Given the description of an element on the screen output the (x, y) to click on. 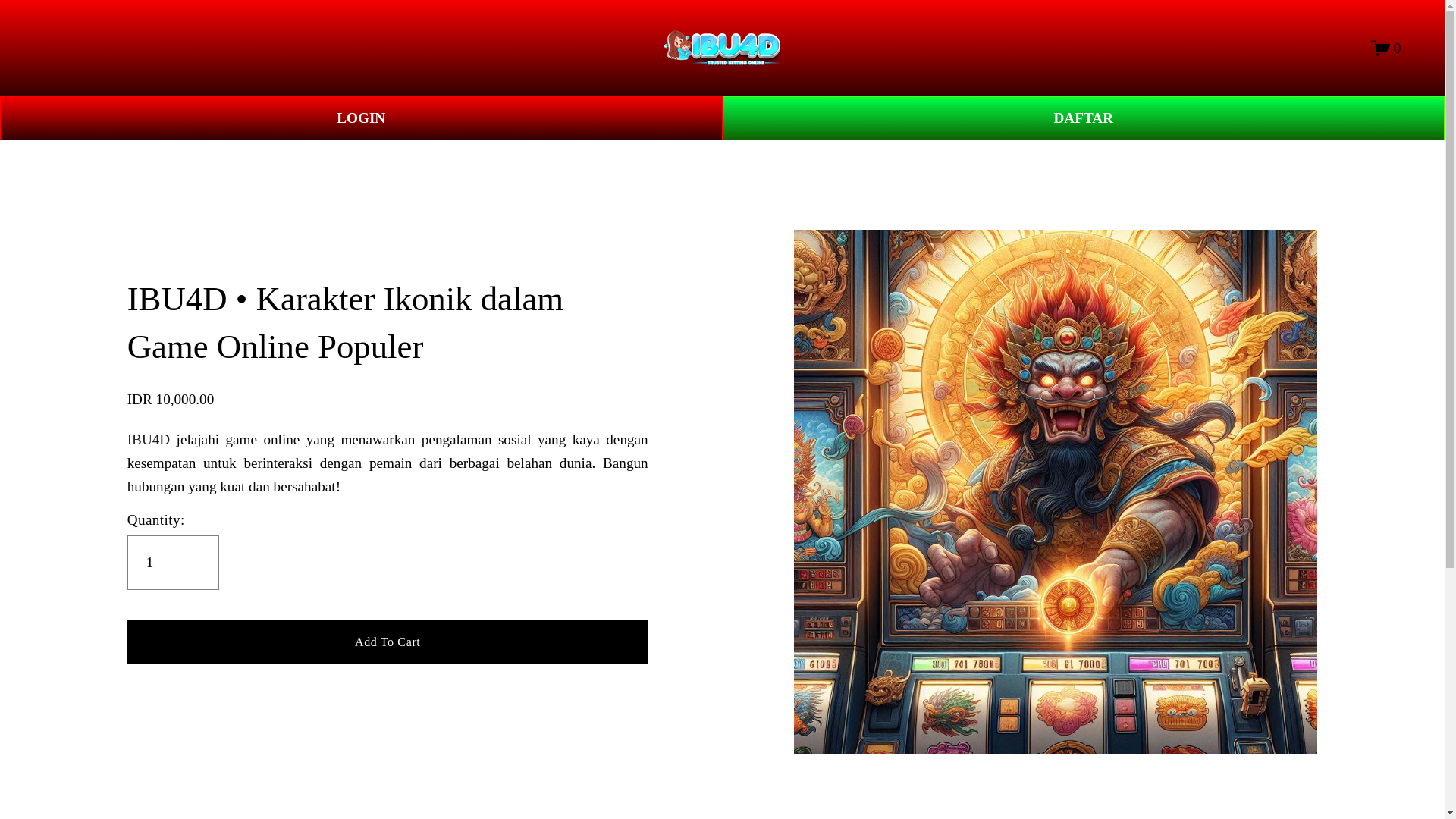
Add To Cart (387, 641)
1 (173, 562)
LOGIN (361, 118)
0 (1385, 47)
IBU4D (149, 439)
